Given the description of an element on the screen output the (x, y) to click on. 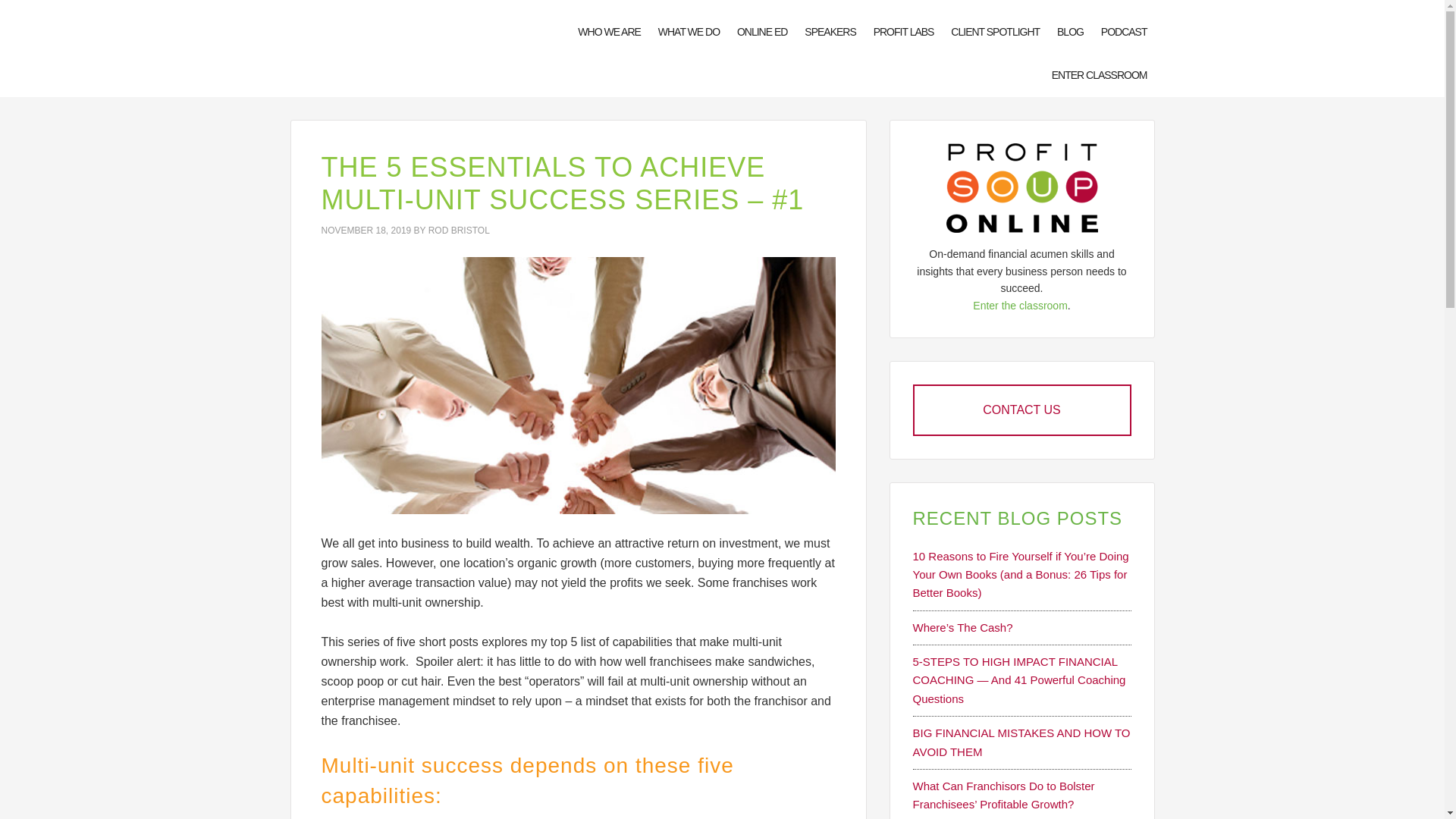
PROFIT LABS (904, 32)
PODCAST (1123, 32)
WHAT WE DO (688, 32)
ENTER CLASSROOM (1098, 75)
Enter the classroom (1019, 305)
WHO WE ARE (608, 32)
BLOG (1069, 32)
CLIENT SPOTLIGHT (994, 32)
CONTACT US (1021, 409)
SPEAKERS (829, 32)
